Given the description of an element on the screen output the (x, y) to click on. 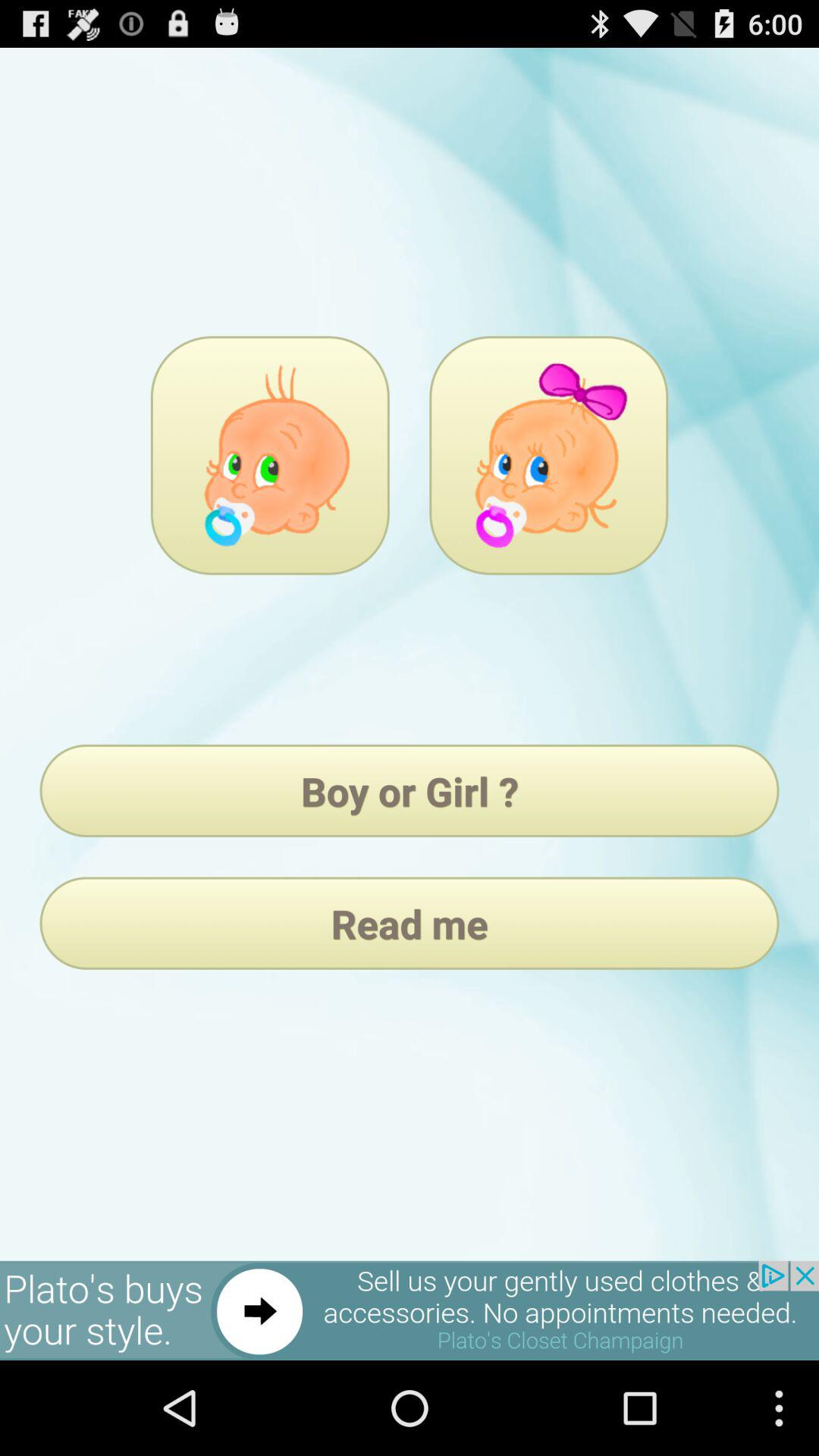
toggle gender female (548, 455)
